Given the description of an element on the screen output the (x, y) to click on. 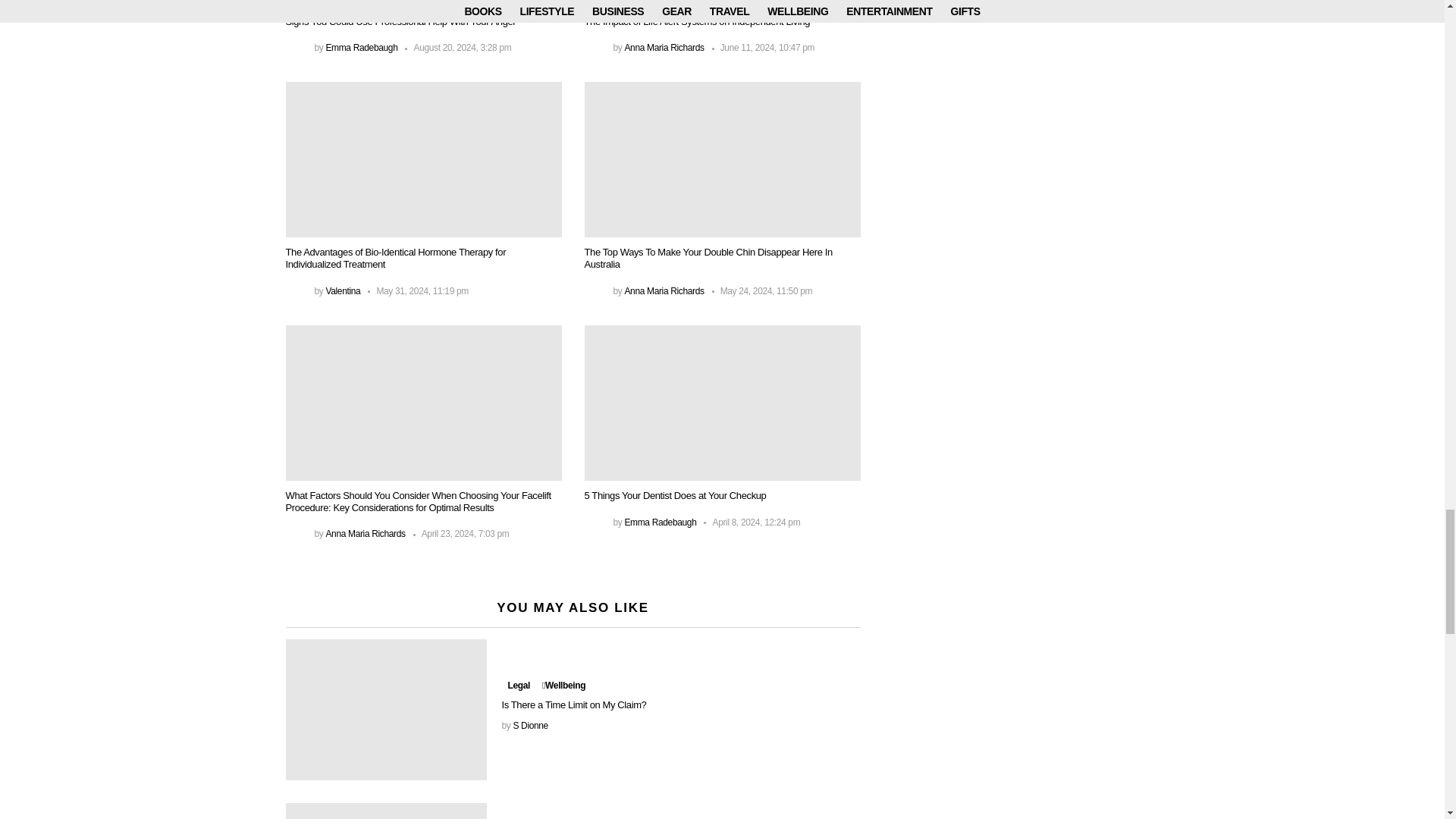
5 Things Your Dentist Does at Your Checkup (721, 402)
Posts by Anna Maria Richards (364, 533)
Posts by Emma Radebaugh (659, 521)
Posts by Anna Maria Richards (663, 290)
What Should You Do Immediately After A Personal Injury? (385, 811)
Is There a Time Limit on My Claim? (385, 709)
Signs You Could Use Professional Help With Your Anger (422, 3)
Posts by S Dionne (530, 725)
Posts by Anna Maria Richards (663, 47)
